Given the description of an element on the screen output the (x, y) to click on. 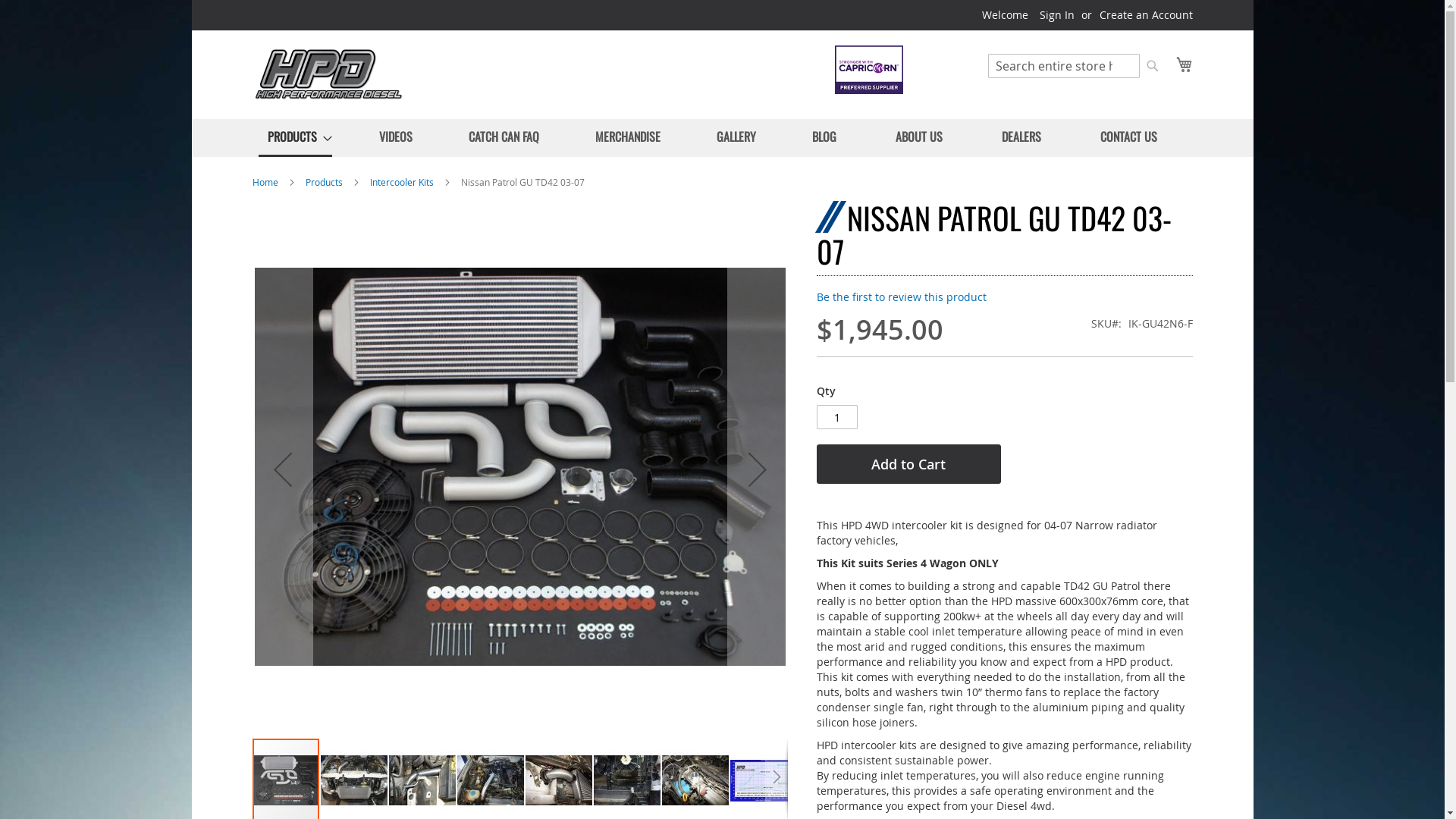
Skip to Content Element type: text (251, 6)
Products Element type: text (323, 181)
GALLERY Element type: text (735, 136)
Qty Element type: hover (835, 416)
HP Diesel Element type: hover (327, 73)
DEALERS Element type: text (1020, 136)
Sign In Element type: text (1055, 14)
ABOUT US Element type: text (917, 136)
Create an Account Element type: text (1145, 14)
Home Element type: text (264, 181)
Intercooler Kits Element type: text (401, 181)
CONTACT US Element type: text (1127, 136)
VIDEOS Element type: text (395, 136)
Skip to the end of the images gallery Element type: text (251, 200)
CATCH CAN FAQ Element type: text (503, 136)
Add to Cart Element type: text (907, 463)
PRODUCTS Element type: text (294, 137)
Be the first to review this product Element type: text (900, 296)
Search Element type: text (1152, 65)
BLOG Element type: text (823, 136)
My Cart Element type: text (1183, 64)
MERCHANDISE Element type: text (626, 136)
